Given the description of an element on the screen output the (x, y) to click on. 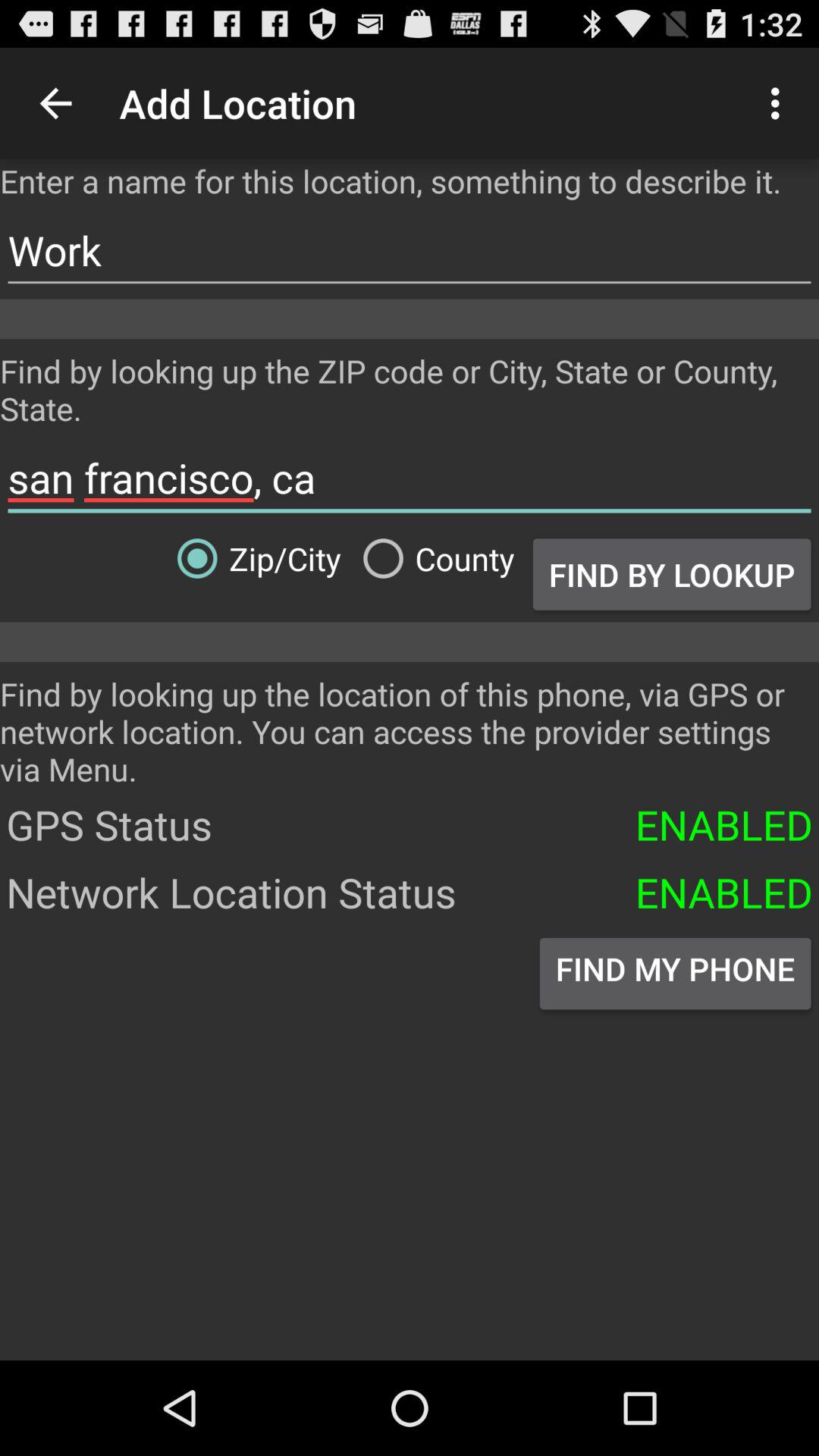
click icon above the enter a name item (779, 103)
